Given the description of an element on the screen output the (x, y) to click on. 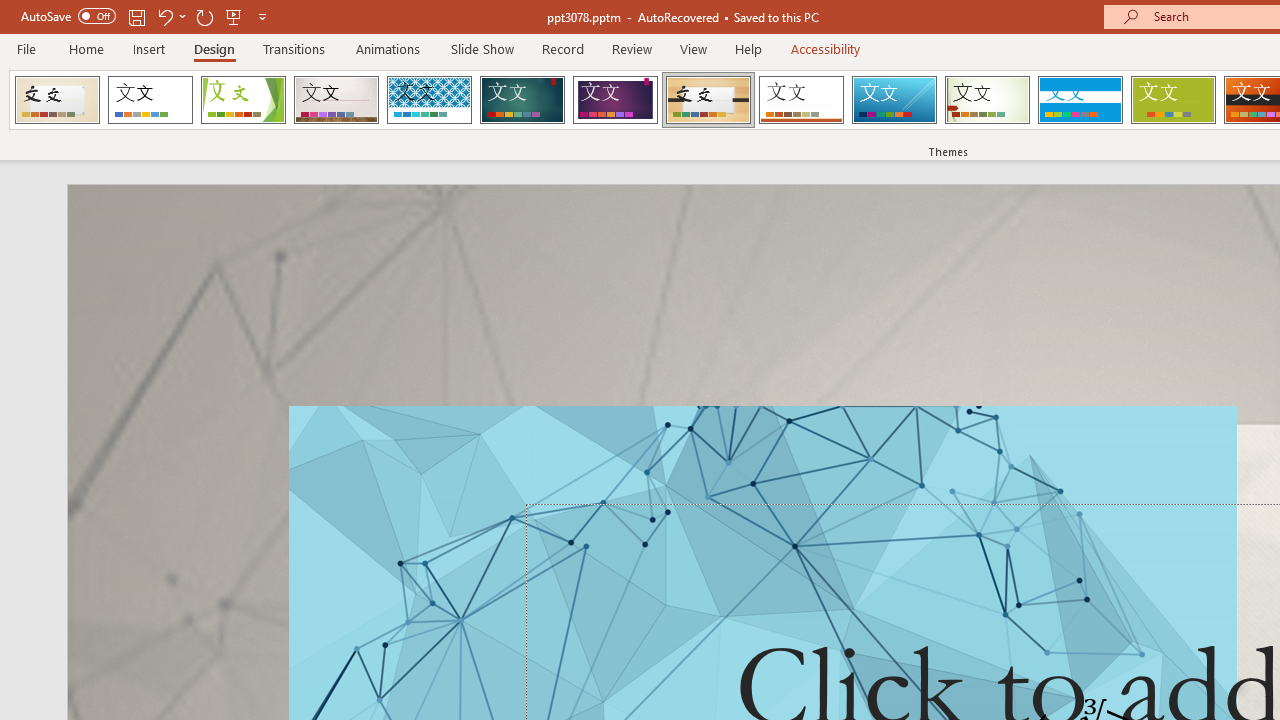
Animations (388, 48)
From Beginning (234, 15)
Ion Boardroom (615, 100)
Transitions (294, 48)
Office Theme (150, 100)
AutoSave (68, 16)
Facet (243, 100)
Integral (429, 100)
Basis (1172, 100)
